Given the description of an element on the screen output the (x, y) to click on. 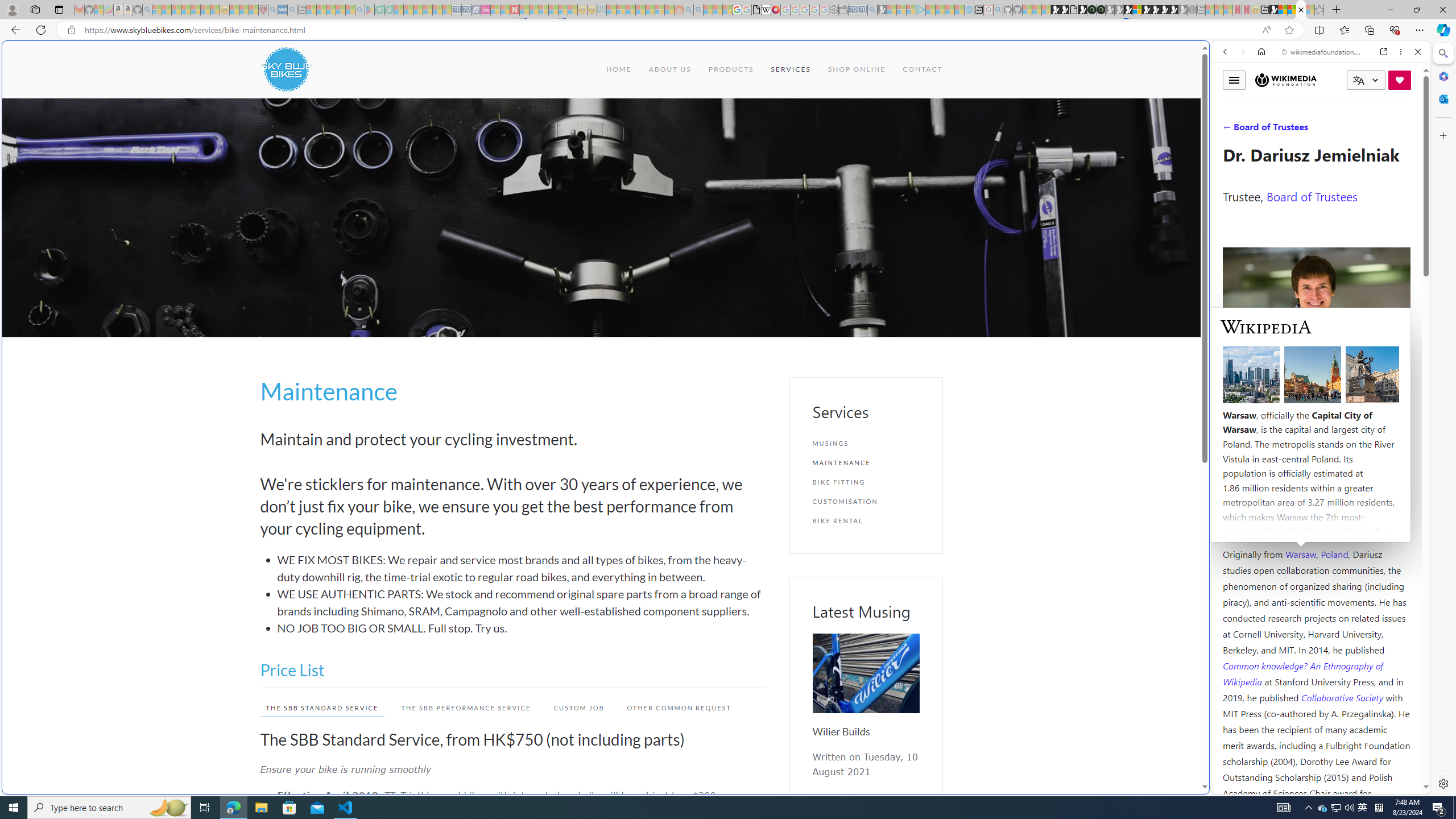
google_privacy_policy_zh-CN.pdf (1118, 683)
HOME (619, 68)
Utah sues federal government - Search - Sleeping (697, 9)
Search Filter, IMAGES (1262, 129)
PRODUCTS (730, 68)
Actions for this site (1370, 583)
SERVICES (790, 68)
Class: wk-position-cover (866, 673)
list of asthma inhalers uk - Search - Sleeping (272, 9)
